Given the description of an element on the screen output the (x, y) to click on. 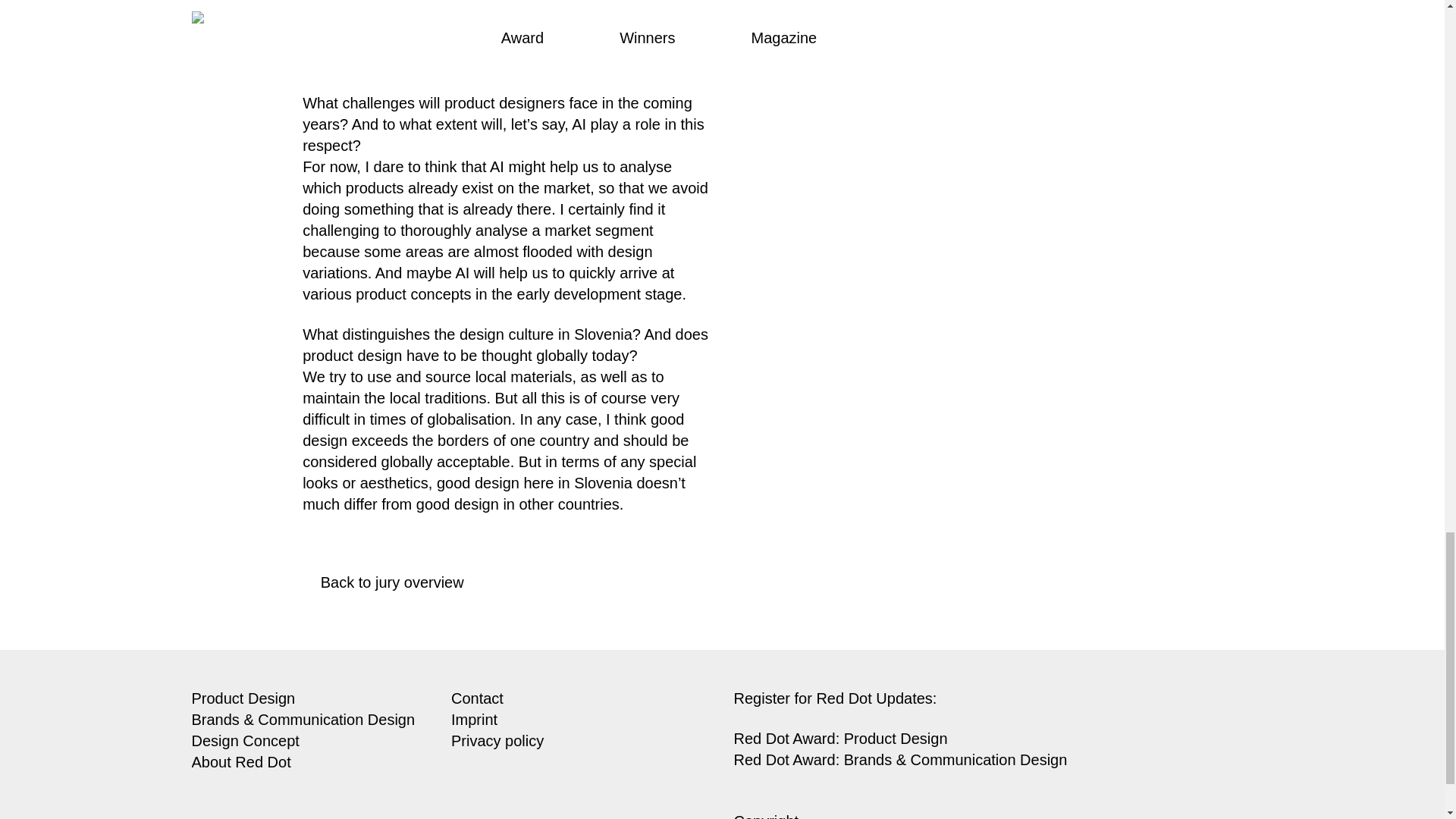
Product Design (242, 698)
Back to jury overview (377, 581)
Red Dot Award: Product Design (840, 738)
